Given the description of an element on the screen output the (x, y) to click on. 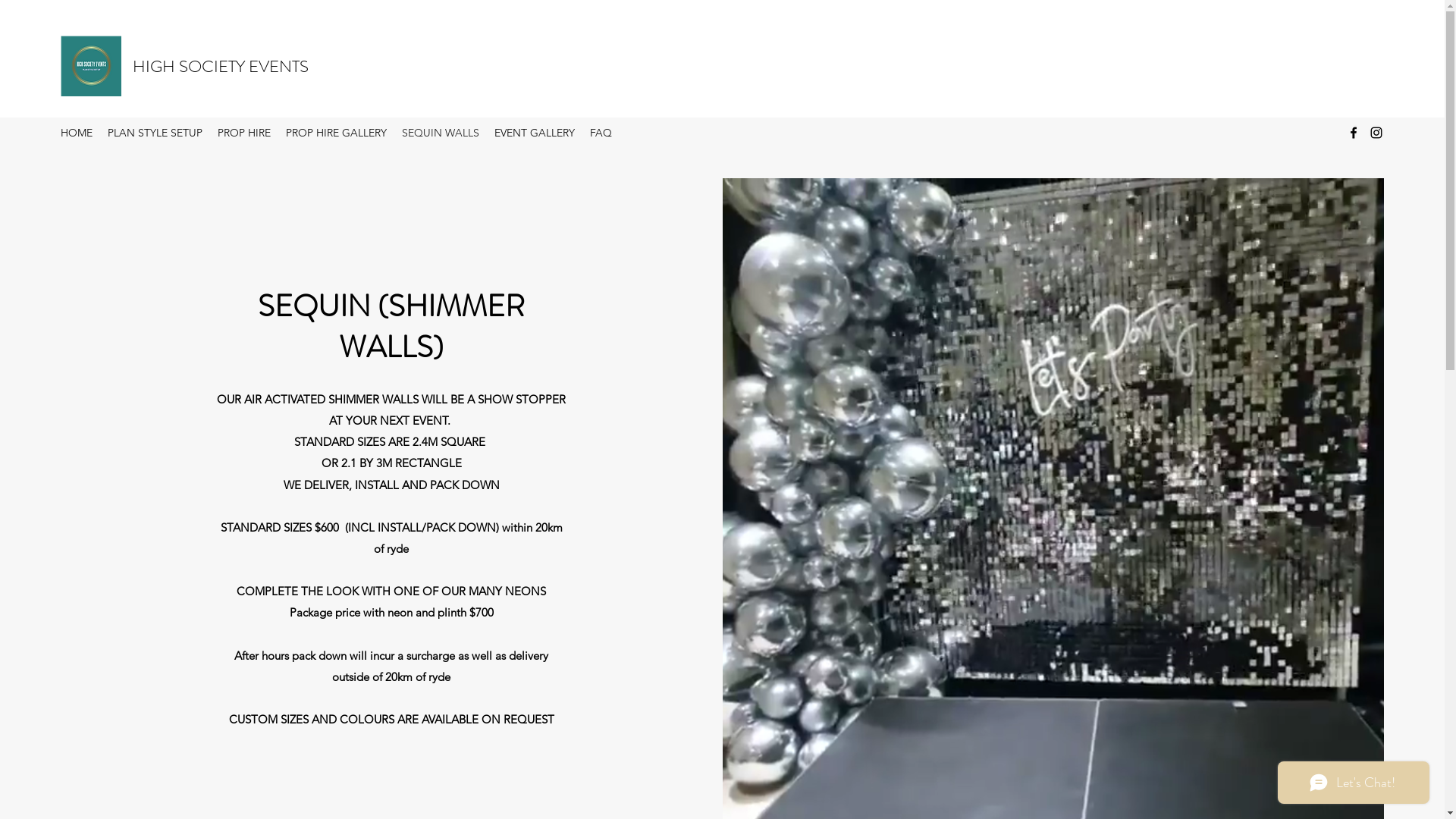
PROP HIRE GALLERY Element type: text (336, 132)
PLAN STYLE SETUP Element type: text (155, 132)
HOME Element type: text (76, 132)
HIGH SOCIETY EVENTS Element type: text (220, 66)
PROP HIRE Element type: text (244, 132)
SEQUIN WALLS Element type: text (440, 132)
EVENT GALLERY Element type: text (534, 132)
FAQ Element type: text (600, 132)
